Given the description of an element on the screen output the (x, y) to click on. 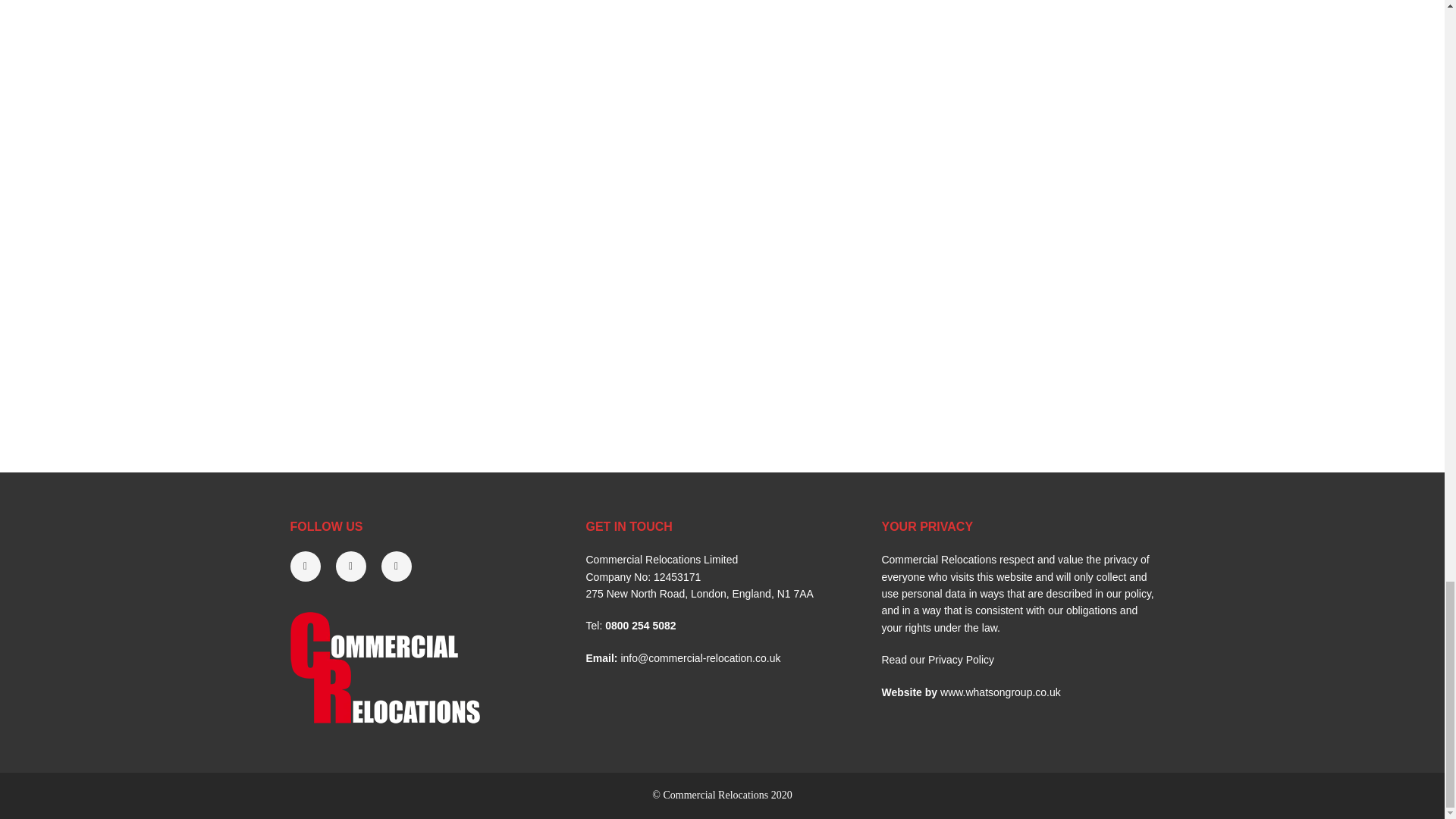
Facebook (403, 566)
LinkedIn (357, 566)
Twitter (311, 566)
